Given the description of an element on the screen output the (x, y) to click on. 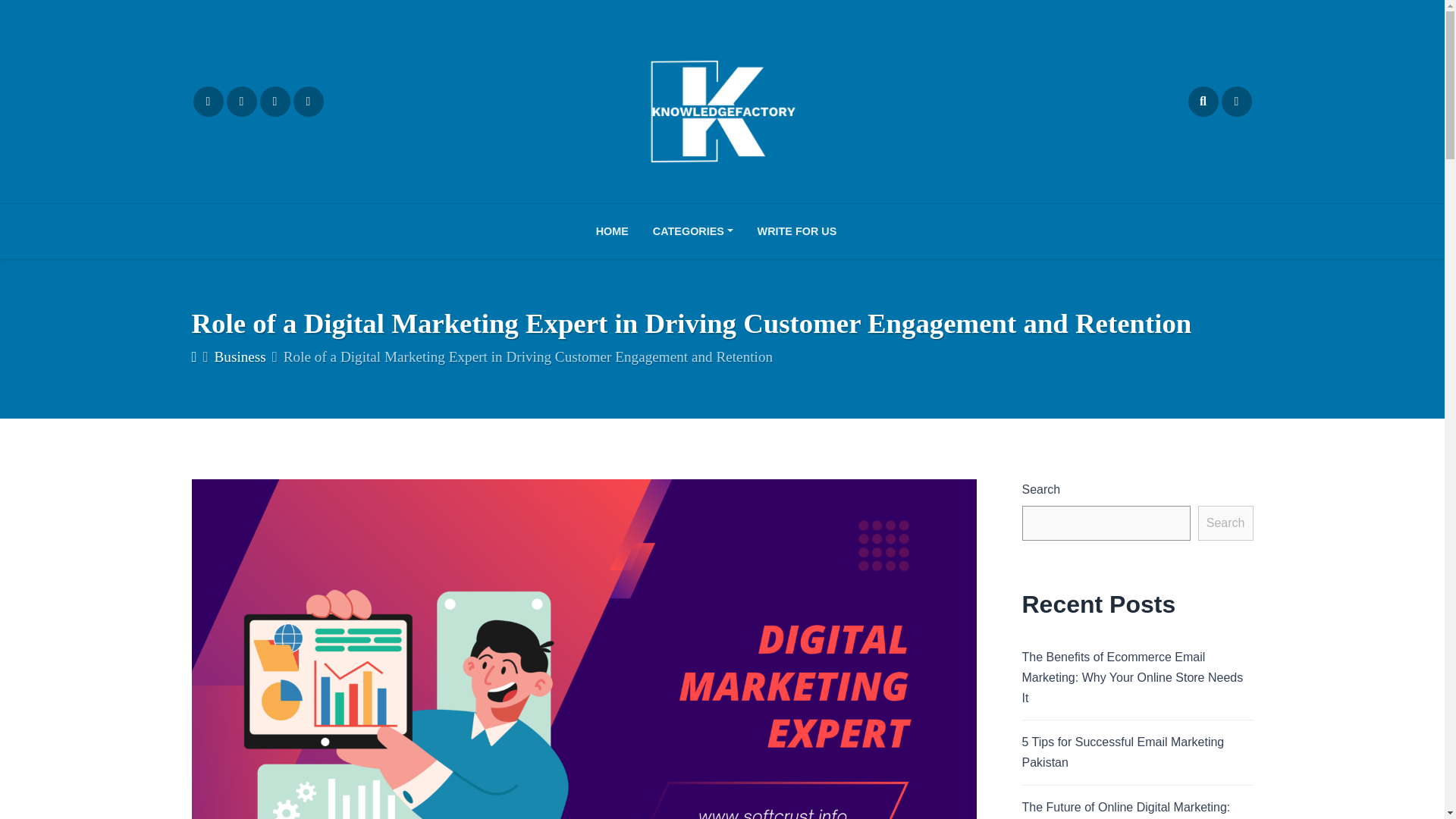
Pinterest (307, 101)
CATEGORIES (692, 230)
WRITE FOR US (796, 230)
instagram (240, 101)
Twitter (274, 101)
facebook (207, 101)
Business (240, 356)
